Given the description of an element on the screen output the (x, y) to click on. 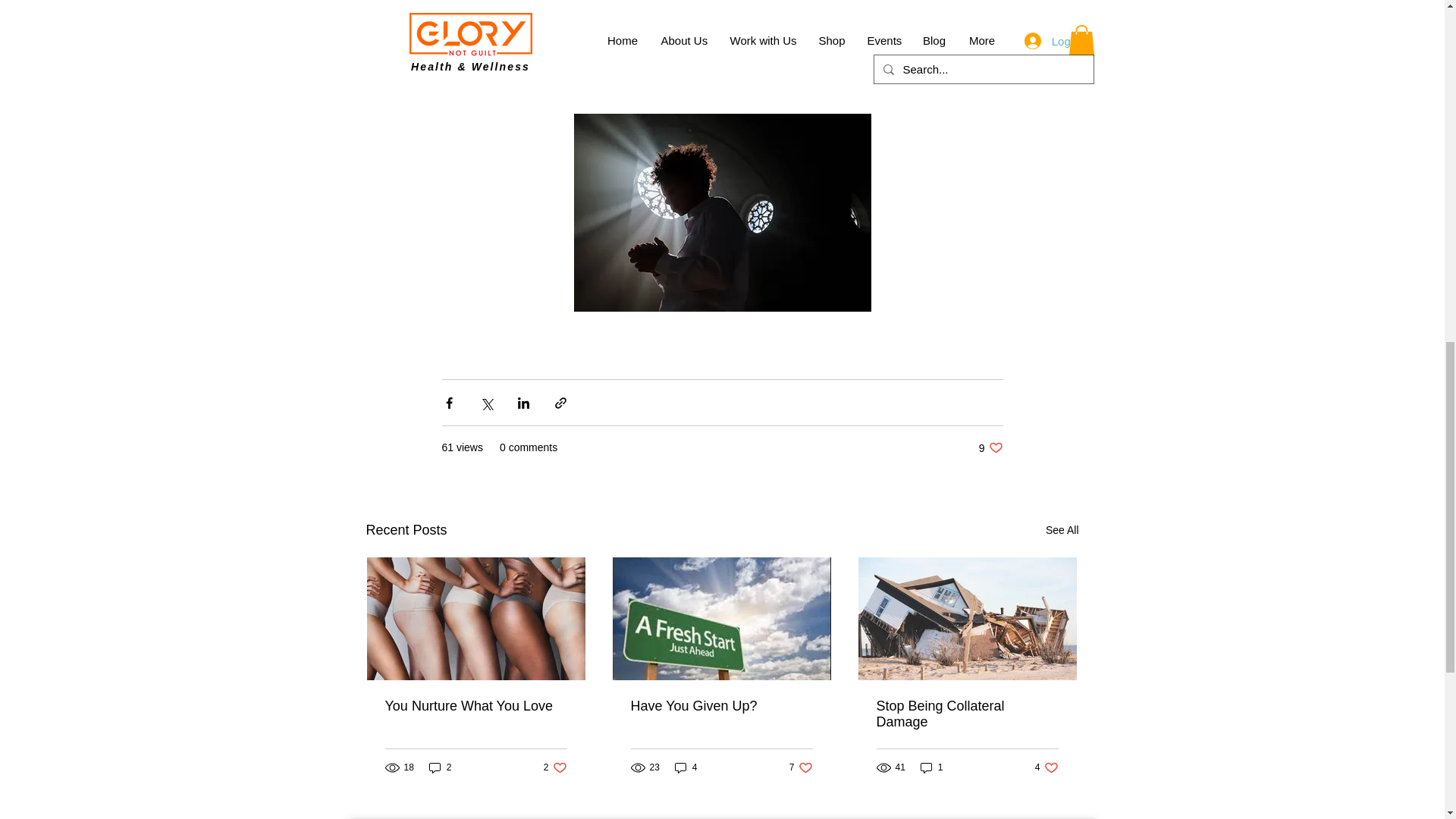
4 (990, 447)
See All (685, 767)
2 (1046, 767)
Stop Being Collateral Damage (800, 767)
Have You Given Up? (1061, 530)
1 (555, 767)
You Nurture What You Love (440, 767)
